Given the description of an element on the screen output the (x, y) to click on. 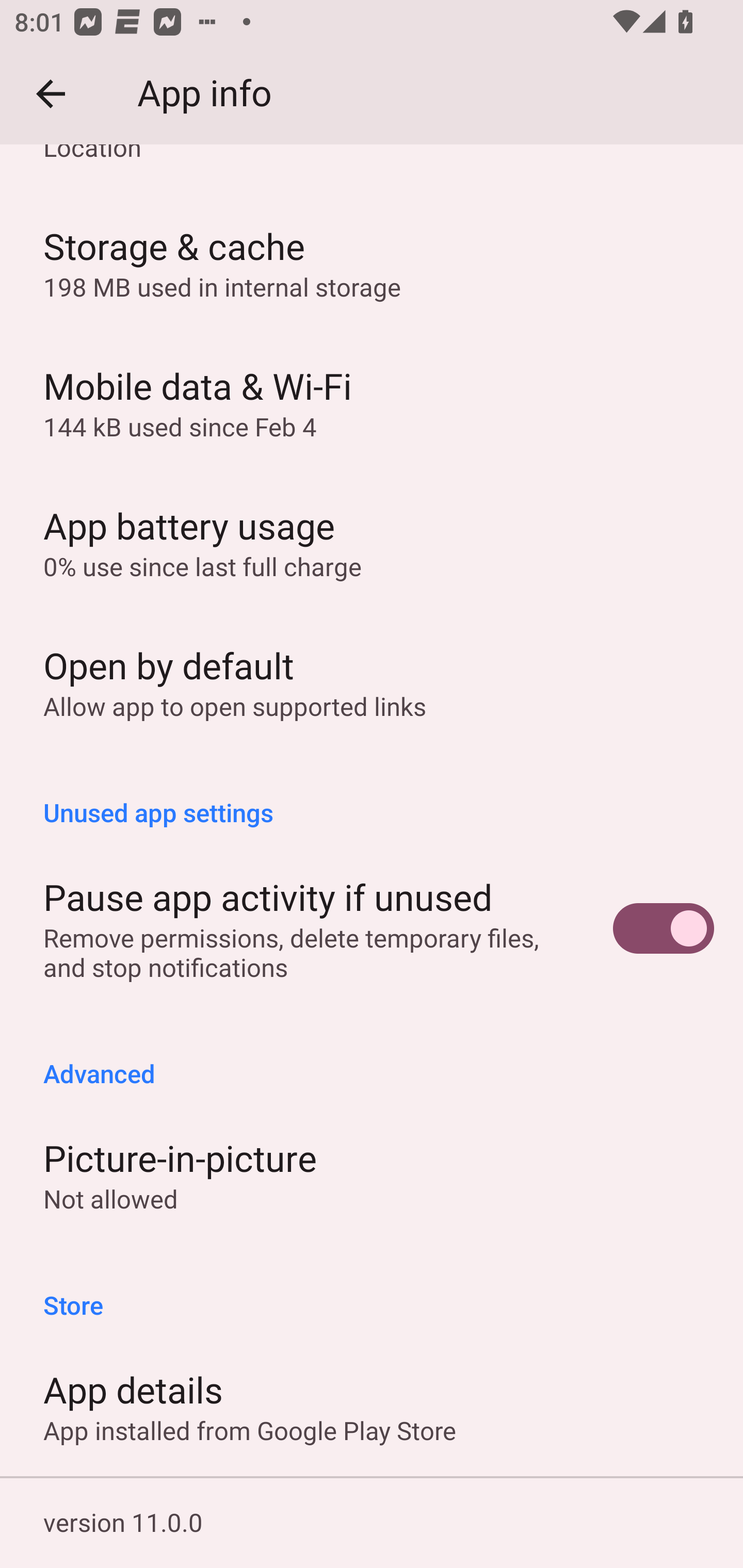
Navigate up (50, 93)
Storage & cache 198 MB used in internal storage (371, 262)
Mobile data & Wi‑Fi 144 kB used since Feb 4 (371, 401)
App battery usage 0% use since last full charge (371, 541)
Open by default Allow app to open supported links (371, 681)
Picture-in-picture Not allowed (371, 1174)
App details App installed from Google Play Store (371, 1405)
